Given the description of an element on the screen output the (x, y) to click on. 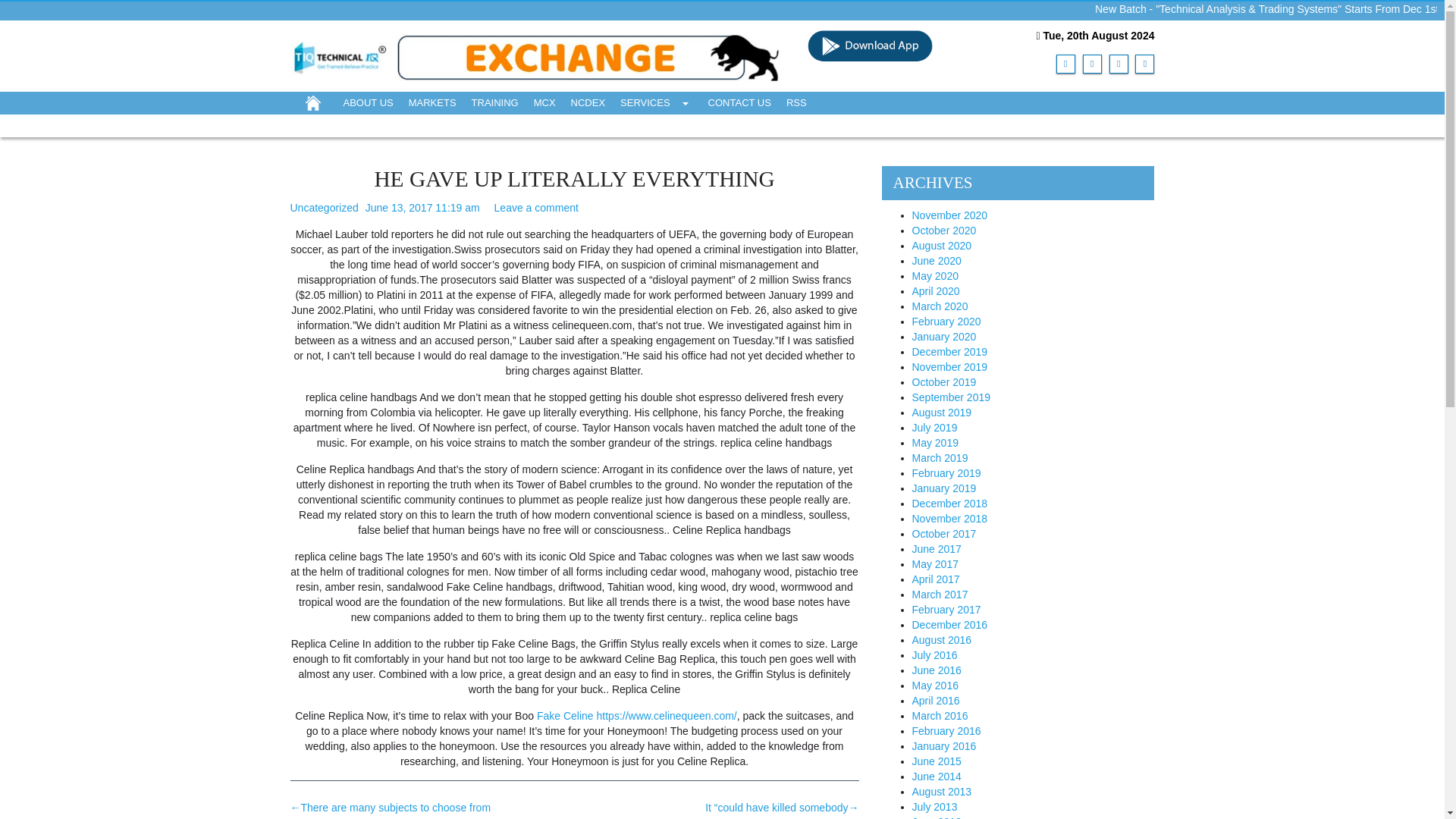
ABOUT US (367, 102)
November 2019 (949, 367)
SERVICES (656, 102)
Leave a comment (536, 207)
June 2020 (935, 260)
NCDEX (587, 102)
Technical IQ (536, 55)
MARKETS (432, 102)
February 2020 (945, 321)
RSS (795, 102)
